Given the description of an element on the screen output the (x, y) to click on. 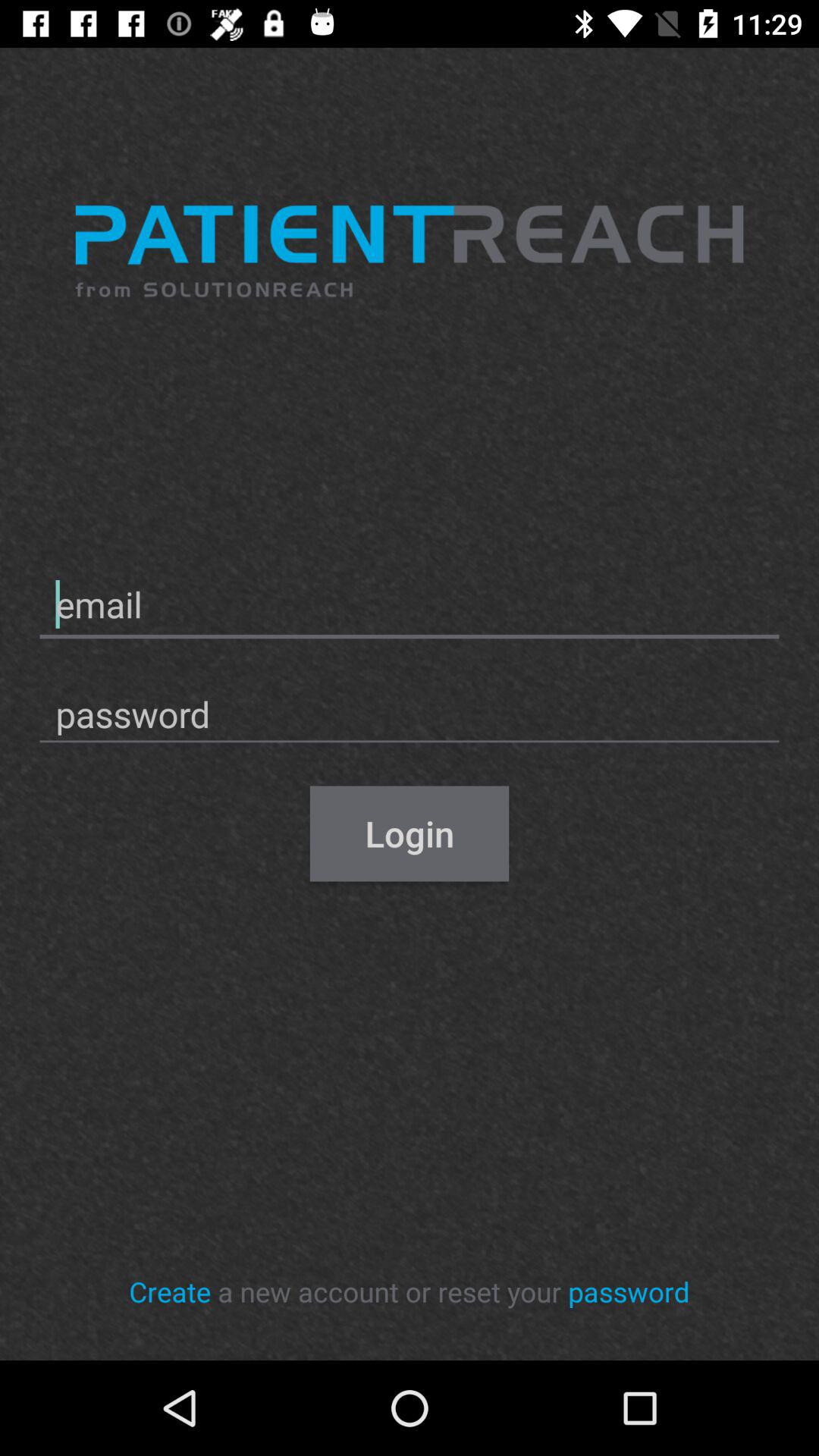
tap the password at the bottom right corner (628, 1291)
